Given the description of an element on the screen output the (x, y) to click on. 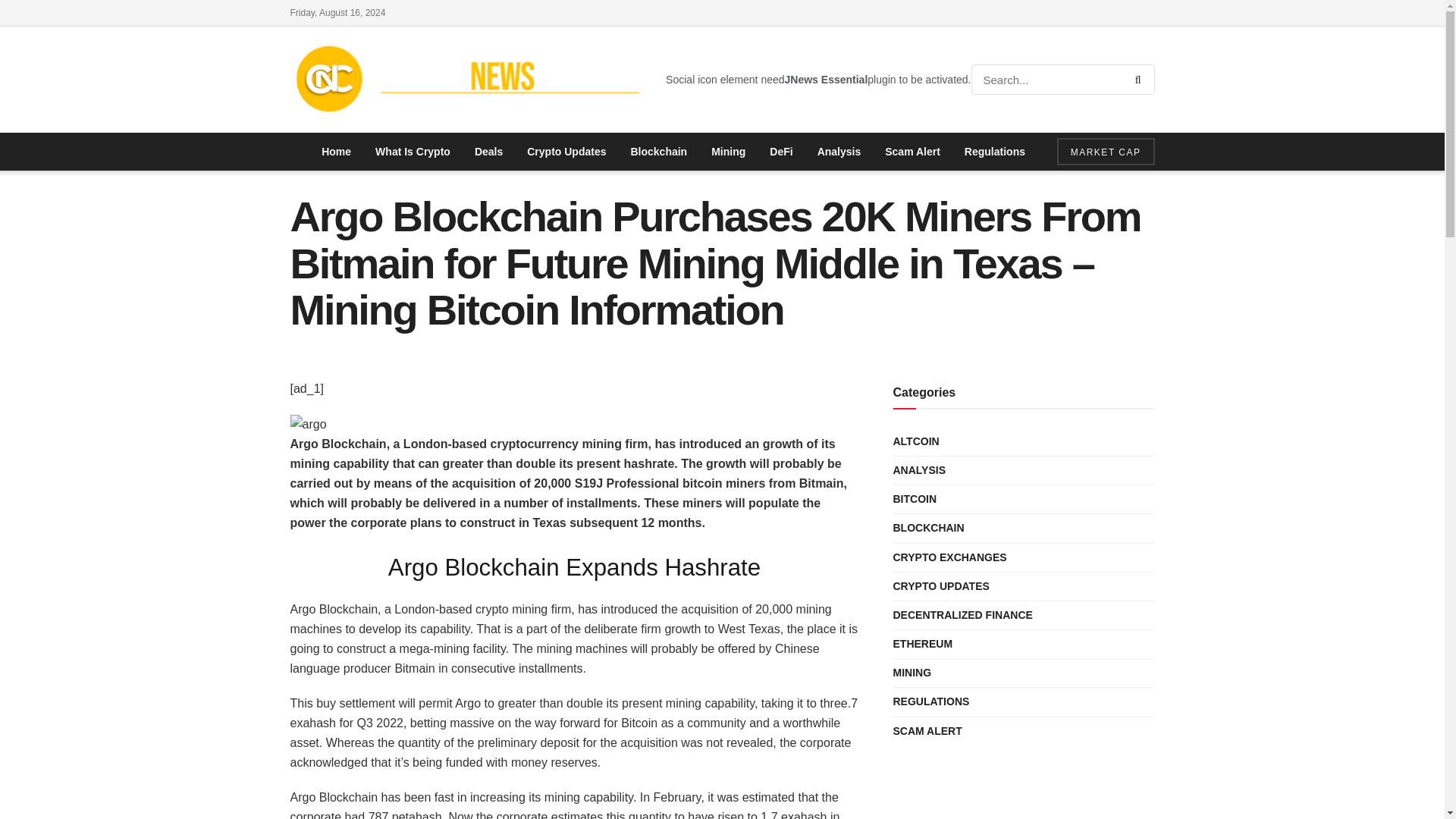
DeFi (781, 151)
Mining (727, 151)
Scam Alert (912, 151)
Home (335, 151)
Deals (489, 151)
Analysis (839, 151)
Regulations (994, 151)
MARKET CAP (1105, 151)
Blockchain (657, 151)
What Is Crypto (412, 151)
